Given the description of an element on the screen output the (x, y) to click on. 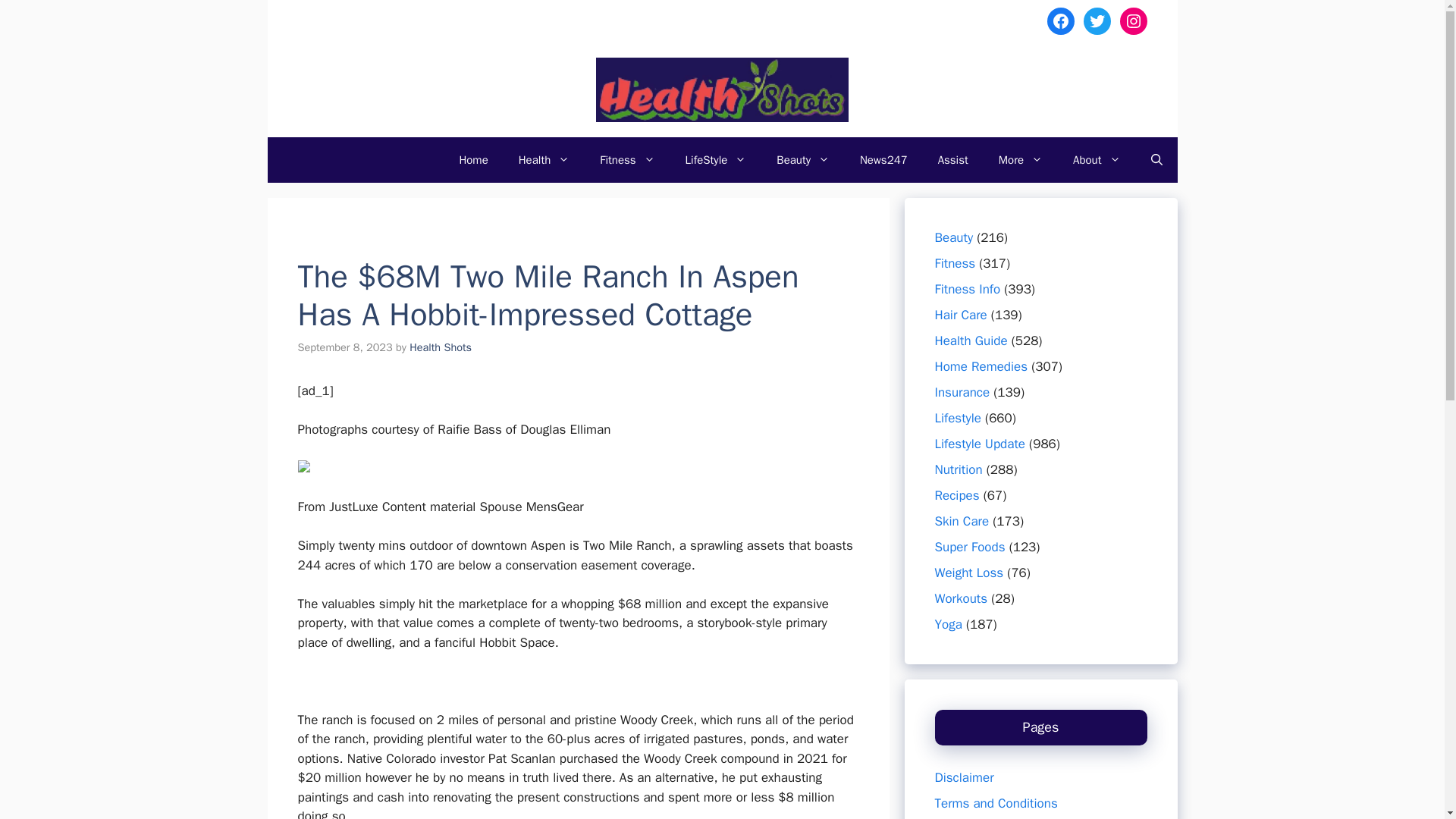
Beauty (802, 159)
View all posts by Health Shots (440, 346)
More (1021, 159)
Twitter (1096, 21)
News247 (883, 159)
LifeStyle (715, 159)
Facebook (1060, 21)
Health Shots (440, 346)
Instagram (1133, 21)
About (1096, 159)
Fitness (627, 159)
Home (473, 159)
Assist (953, 159)
Health (544, 159)
